Given the description of an element on the screen output the (x, y) to click on. 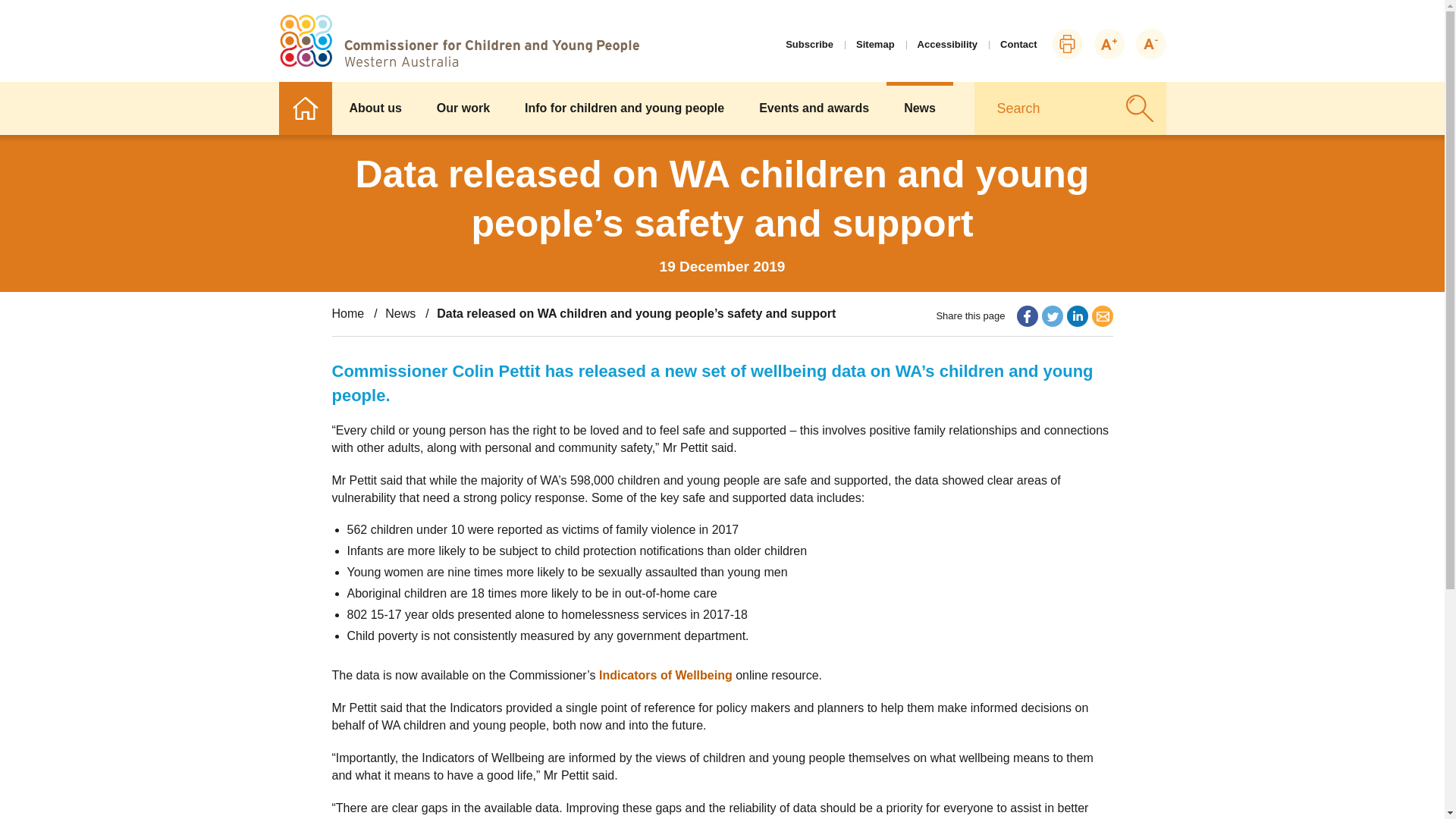
Our work (462, 108)
Sitemap (875, 43)
Zoom in (1108, 43)
Info for children and young people (623, 108)
indicators (665, 675)
Submit (1139, 108)
Zoom out (1150, 43)
Print this page (1067, 43)
Subscribe (809, 43)
Accessibility (947, 43)
